Given the description of an element on the screen output the (x, y) to click on. 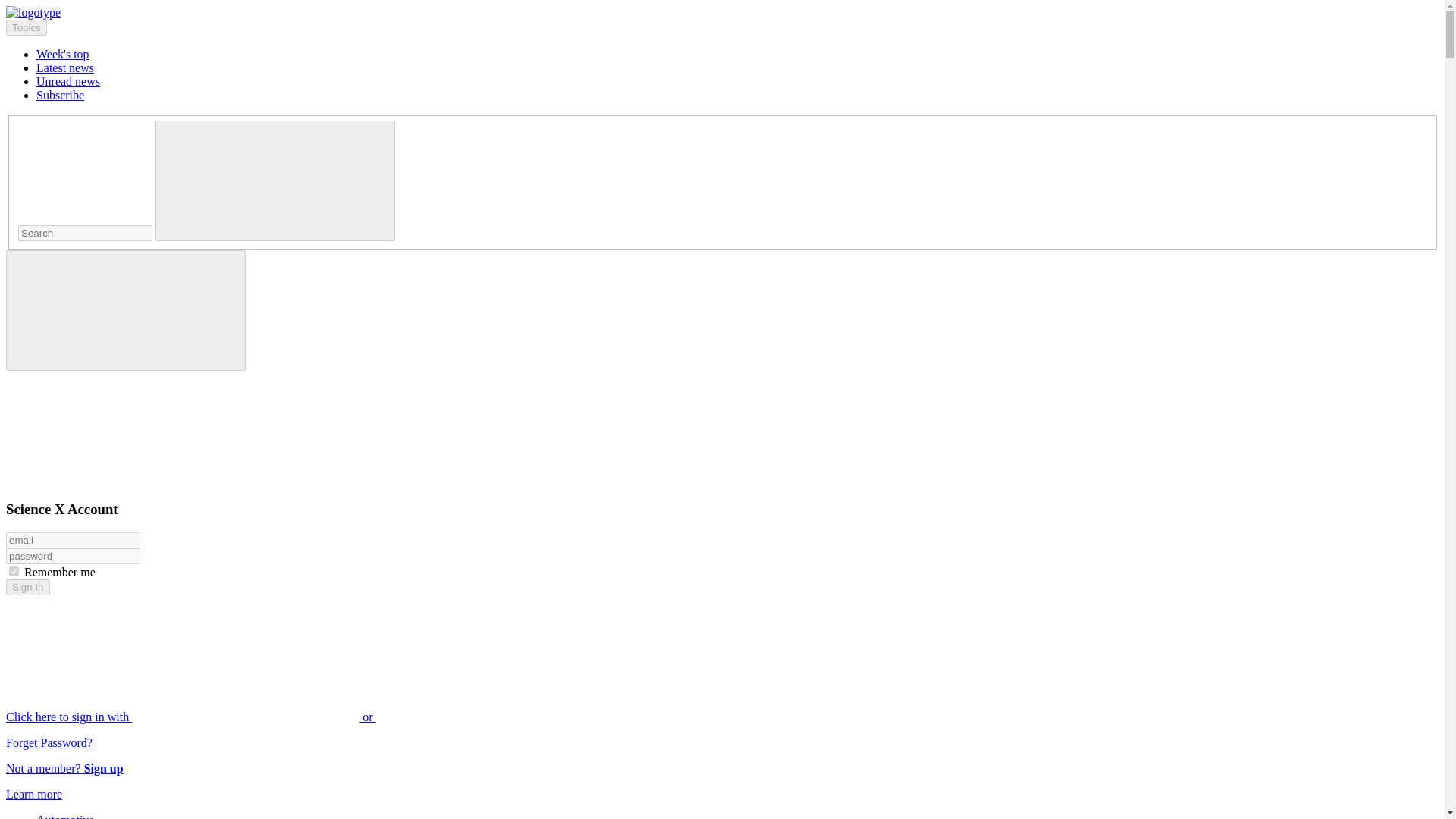
Subscribe (60, 94)
Learn more (33, 793)
on (13, 571)
Not a member? Sign up (64, 768)
Topics (25, 27)
Click here to sign in with or (304, 716)
Sign In (27, 587)
Automotive (65, 816)
Forget Password? (49, 742)
Latest news (65, 67)
